Given the description of an element on the screen output the (x, y) to click on. 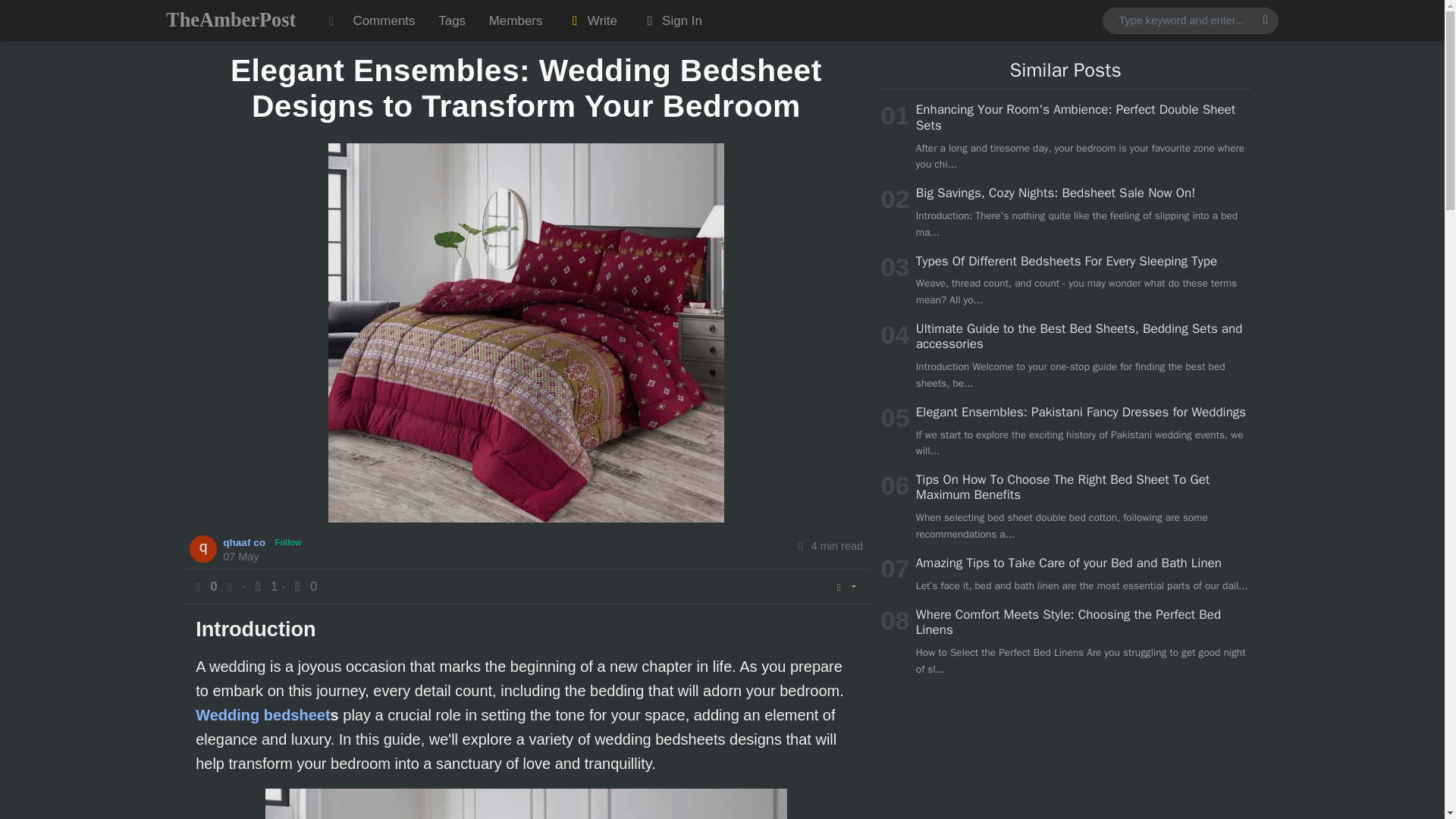
Types Of Different Bedsheets For Every Sleeping Type (1066, 261)
Elegant Ensembles: Pakistani Fancy Dresses for Weddings (1080, 412)
Write (591, 20)
Toggle dark mode (330, 20)
0 (302, 586)
Amazing Tips to Take Care of your Bed and Bath Linen (1068, 562)
Sign In (670, 20)
TheAmberPost (230, 20)
Big Savings, Cozy Nights: Bedsheet Sale Now On! (1055, 192)
